Given the description of an element on the screen output the (x, y) to click on. 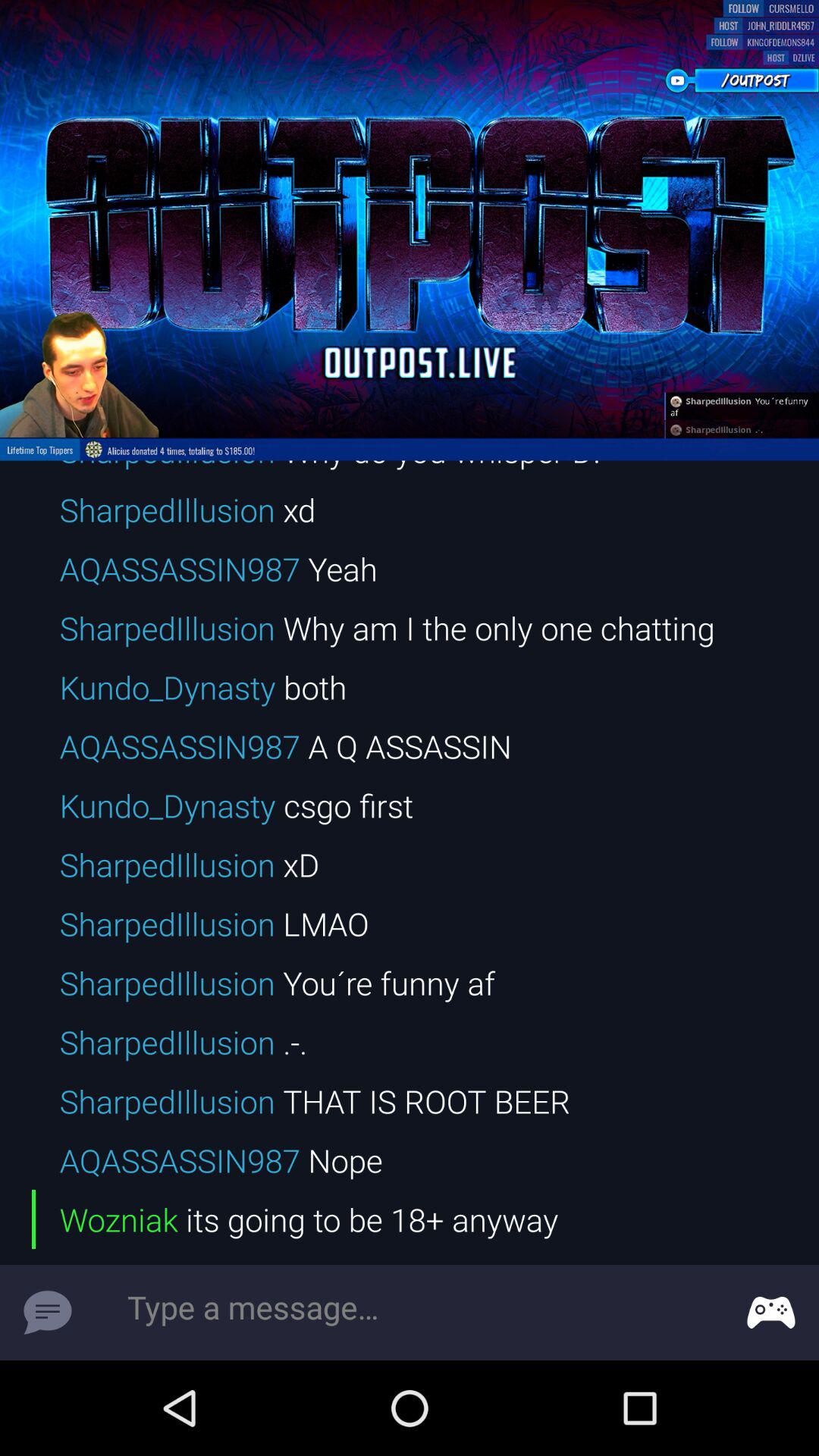
message option button (771, 1312)
